Given the description of an element on the screen output the (x, y) to click on. 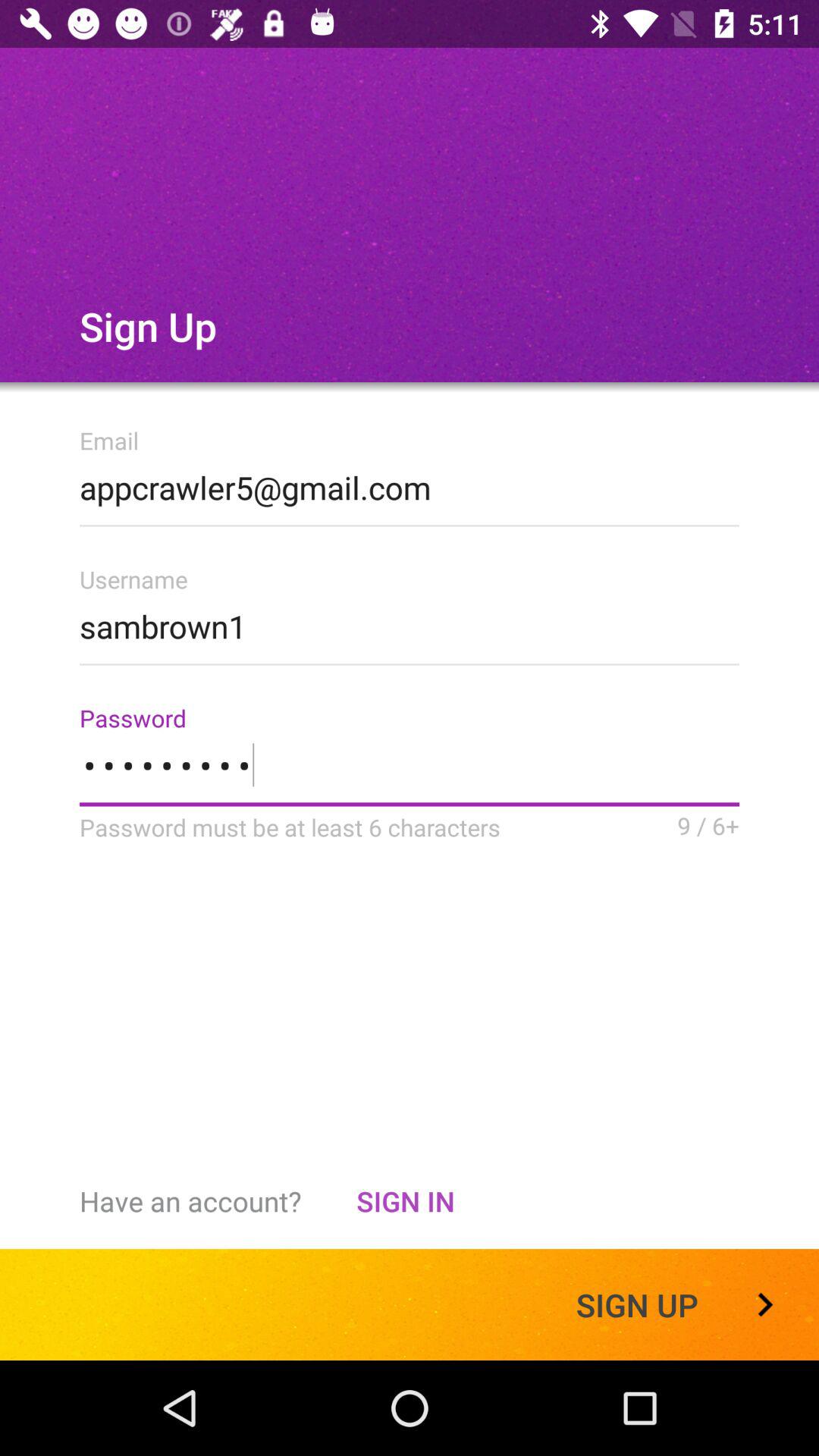
turn off sambrown1 (409, 621)
